Given the description of an element on the screen output the (x, y) to click on. 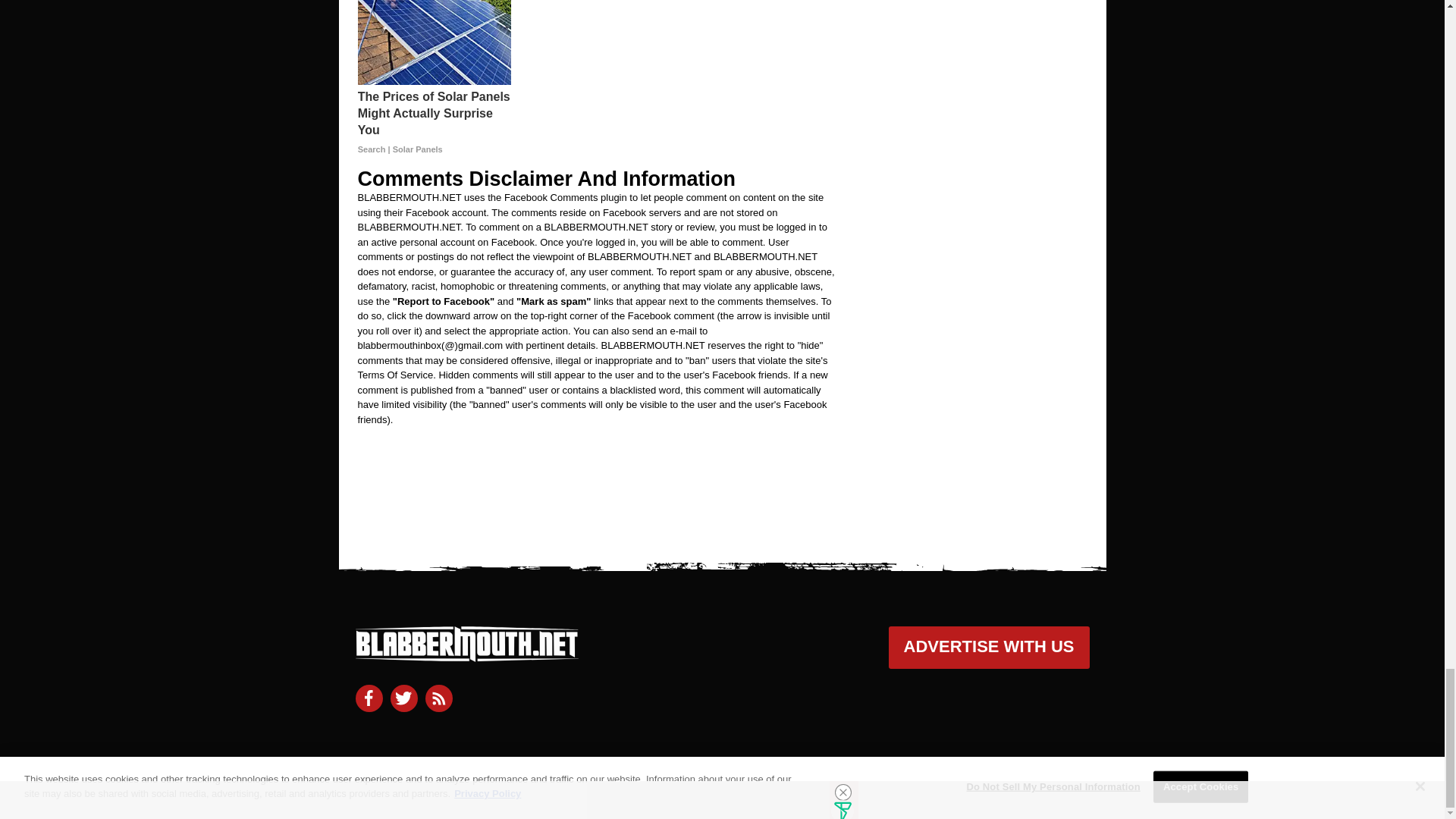
blabbermouth (466, 654)
The Prices of Solar Panels Might Actually Surprise You (434, 121)
